Given the description of an element on the screen output the (x, y) to click on. 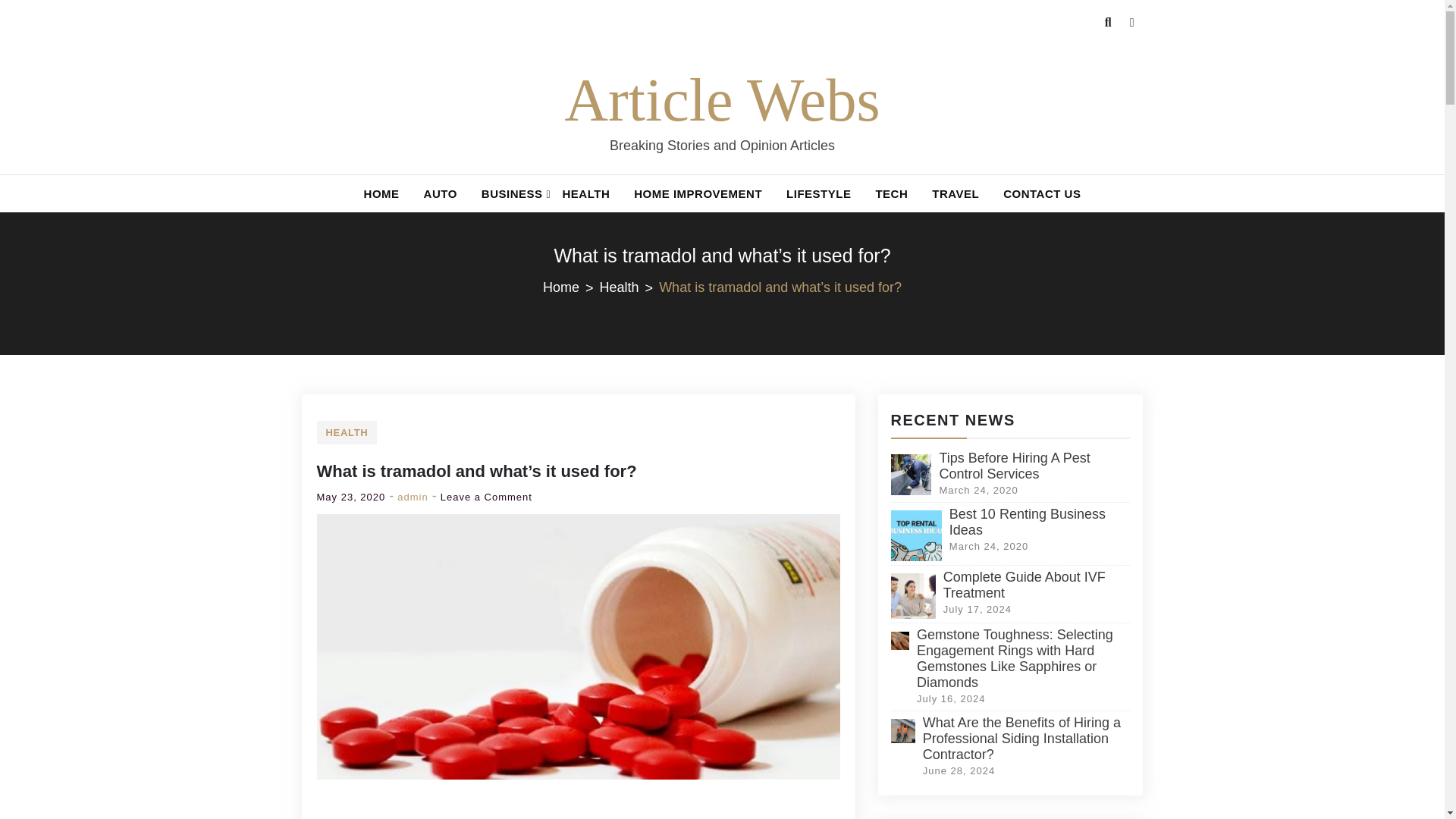
LIFESTYLE (818, 193)
Article Webs (721, 99)
TRAVEL (955, 193)
Best 10 Renting Business Ideas (1027, 521)
Tips Before Hiring A Pest Control Services (1014, 465)
Health (629, 286)
admin (412, 496)
HOME (382, 193)
HOME IMPROVEMENT (697, 193)
TECH (891, 193)
HEALTH (347, 432)
Complete Guide About IVF Treatment (1024, 584)
May 23, 2020 (351, 496)
Search (46, 31)
BUSINESS (509, 193)
